Given the description of an element on the screen output the (x, y) to click on. 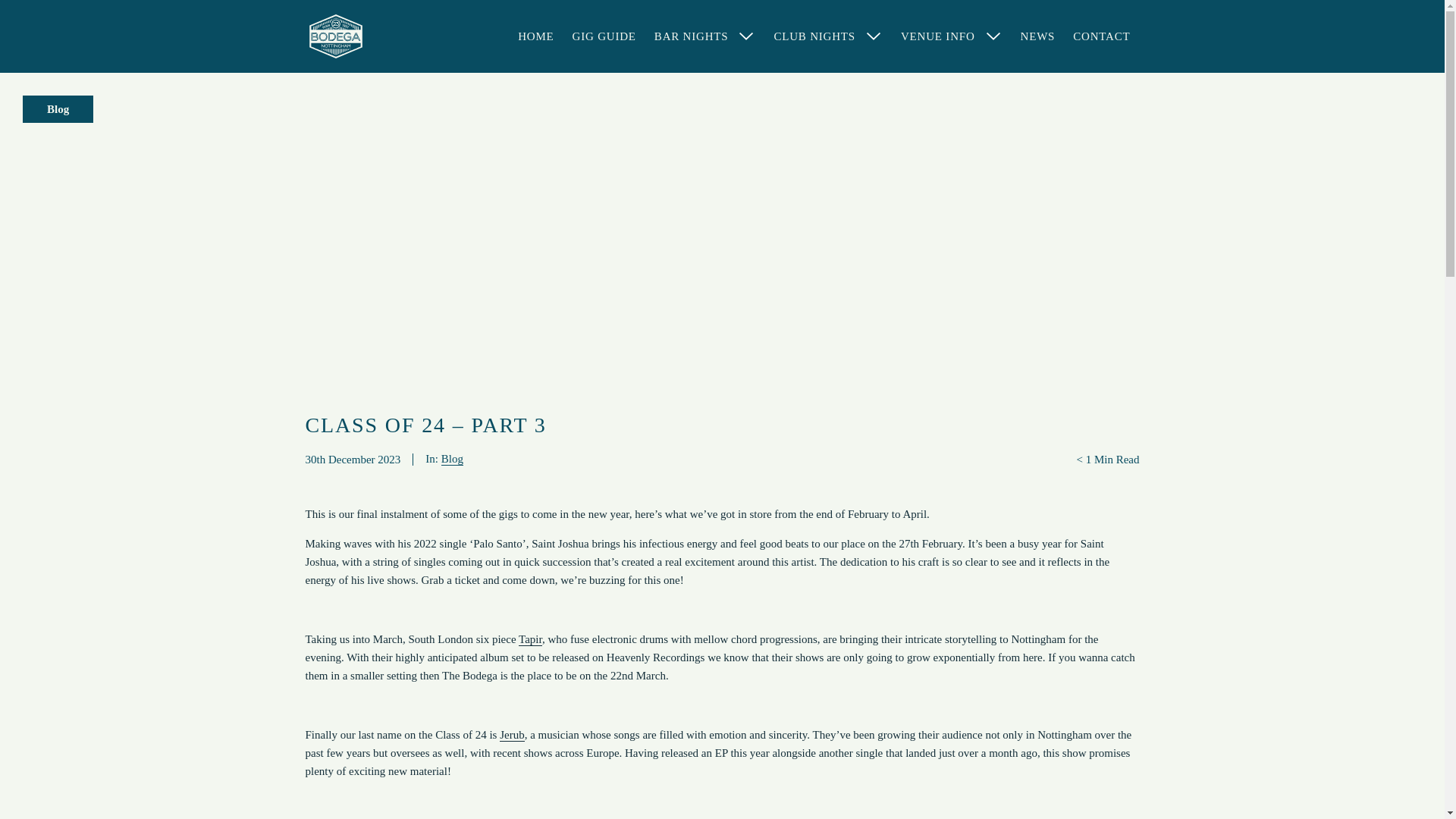
CONTACT (1101, 35)
CLUB NIGHTS (827, 35)
HOME (535, 35)
BAR NIGHTS (705, 35)
Tapir (529, 639)
NEWS (1037, 35)
GIG GUIDE (604, 35)
Jerub (511, 735)
Blog (452, 459)
VENUE INFO (951, 35)
